Given the description of an element on the screen output the (x, y) to click on. 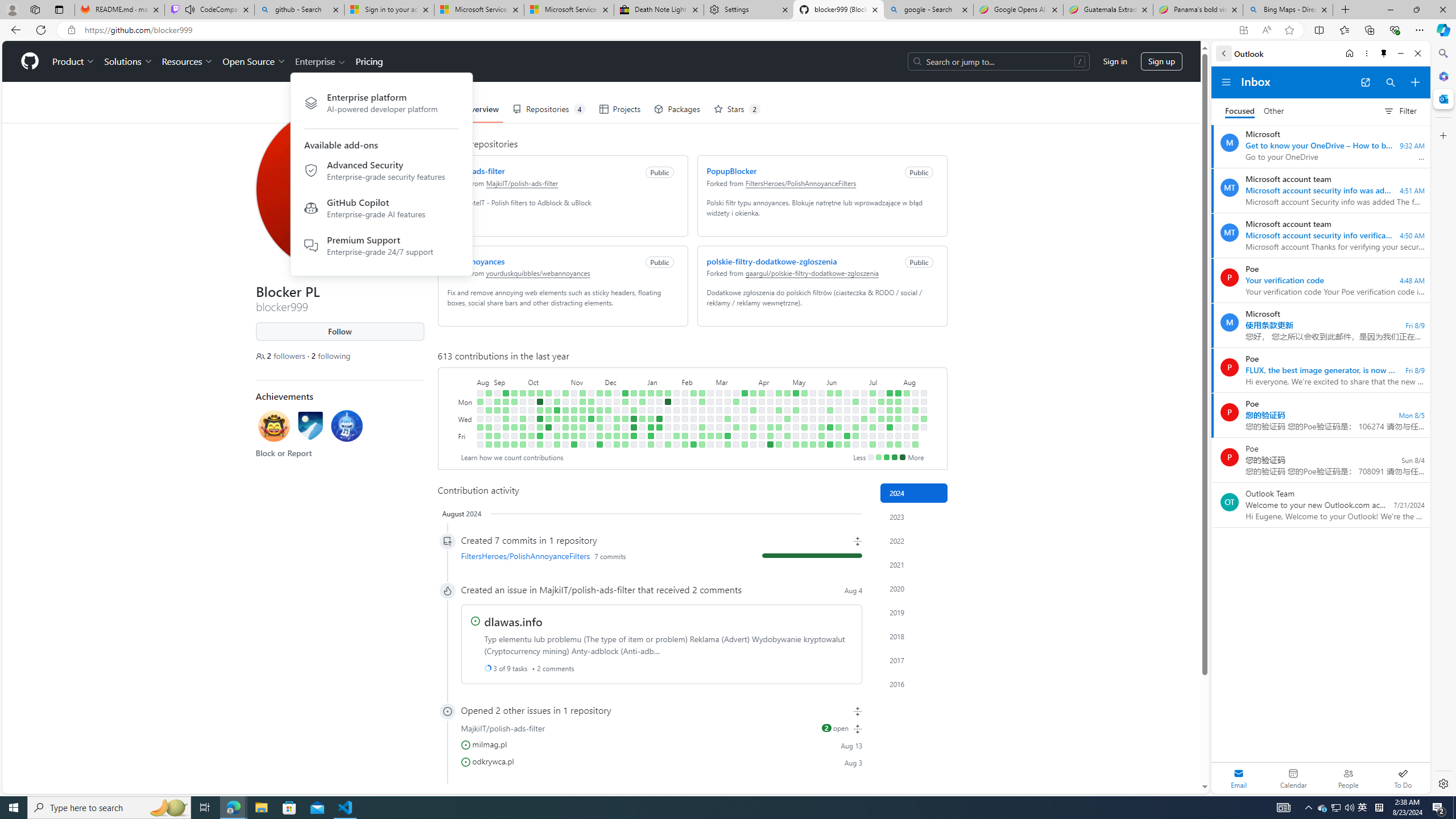
Selected mail module (1238, 777)
No contributions on June 12th. (837, 418)
No contributions on March 11th. (726, 401)
Open in new tab (1365, 82)
4 contributions on January 27th. (667, 444)
8 contributions on November 22nd. (591, 418)
4 contributions on October 14th. (539, 444)
August (914, 380)
View site information (70, 29)
No contributions on April 30th. (786, 410)
Premium Support Enterprise-grade 24/7 support (381, 245)
6 contributions on June 8th. (829, 444)
No contributions on February 15th. (693, 427)
